Given the description of an element on the screen output the (x, y) to click on. 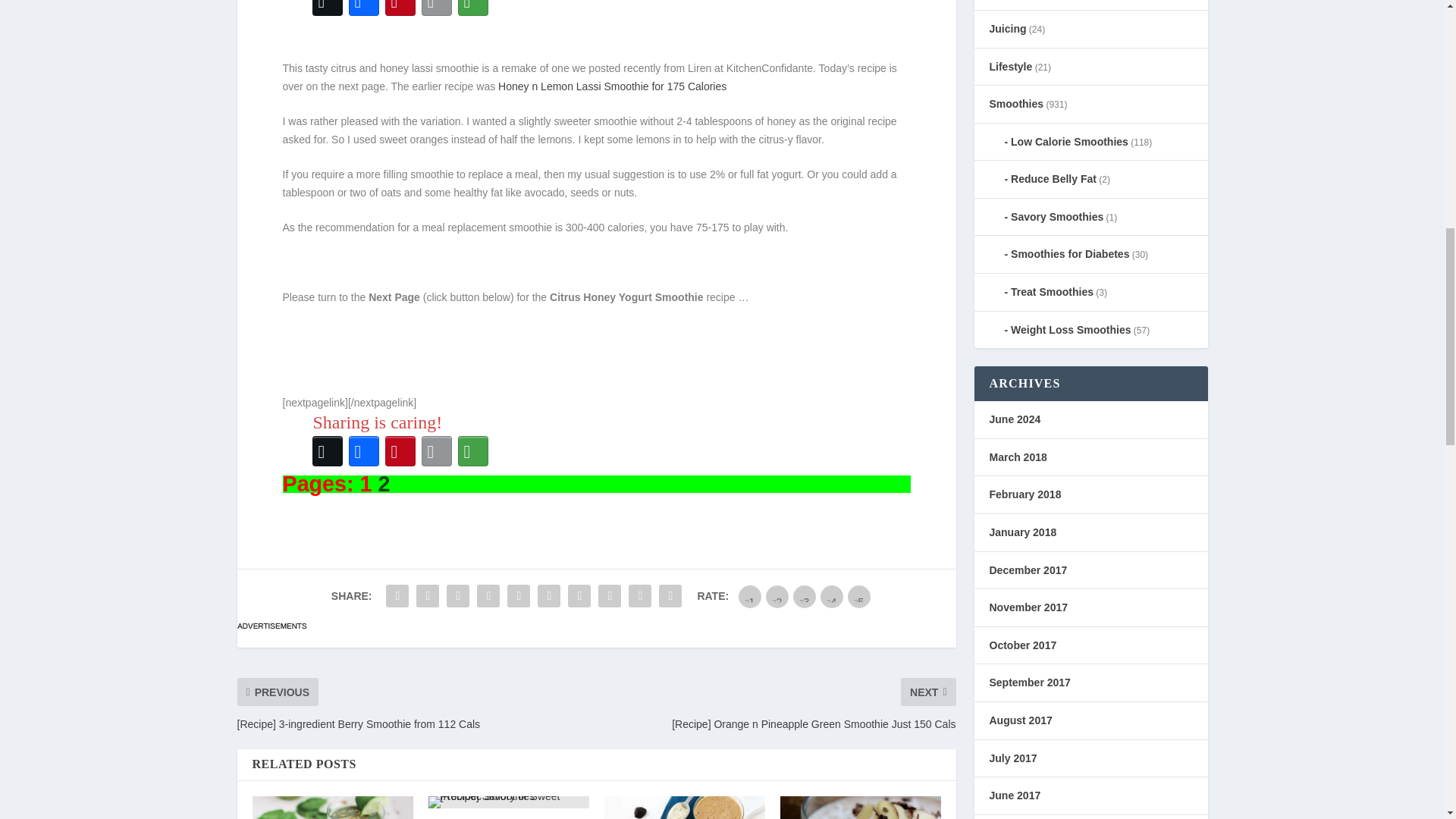
Pinterest (400, 9)
Facebook (363, 451)
More Options (473, 9)
Facebook (363, 9)
Email This (436, 9)
